Given the description of an element on the screen output the (x, y) to click on. 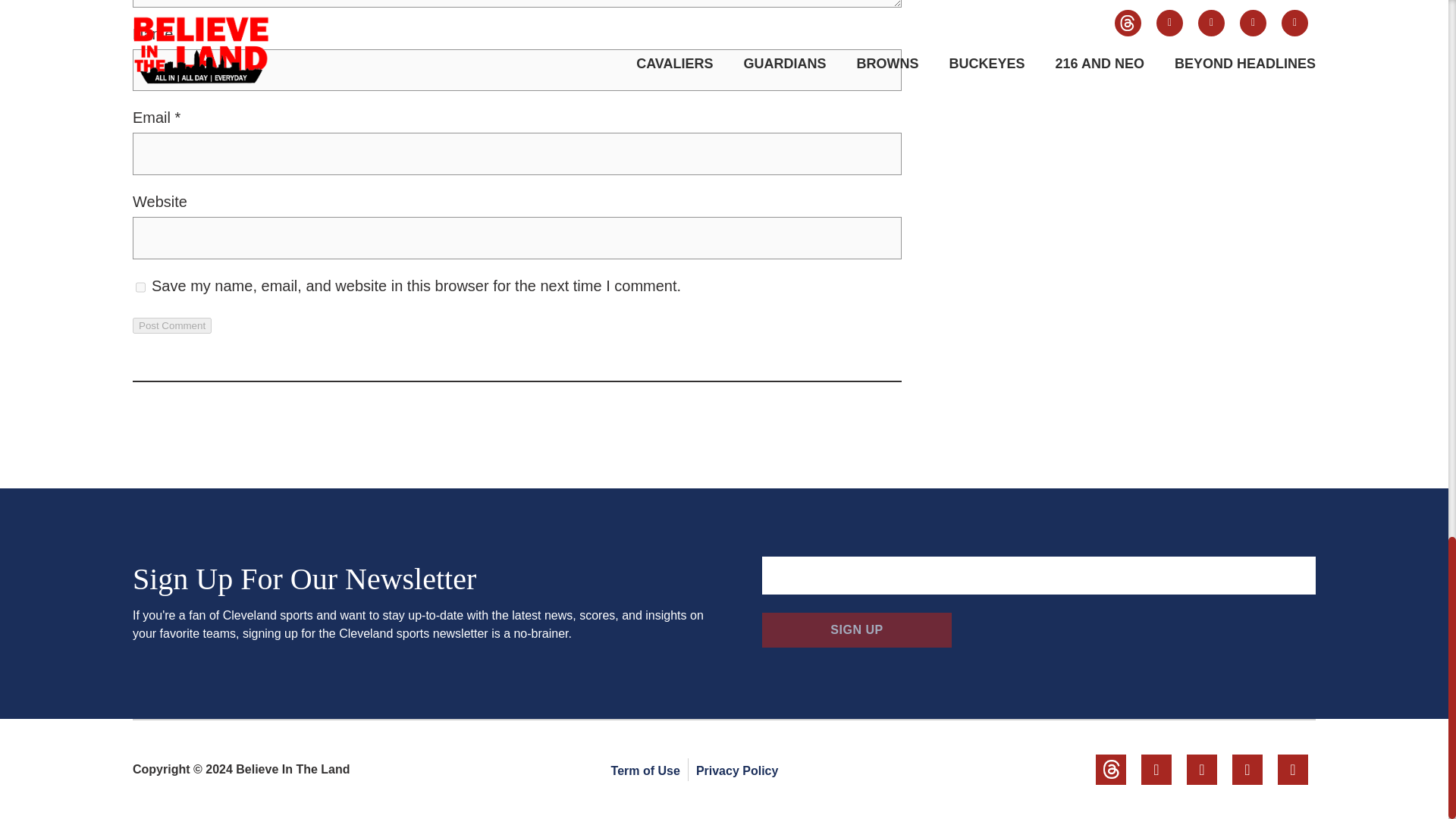
Privacy Policy (736, 770)
Post Comment (171, 325)
Term of Use (645, 770)
SIGN UP (856, 629)
Post Comment (171, 325)
SIGN UP (856, 629)
